Given the description of an element on the screen output the (x, y) to click on. 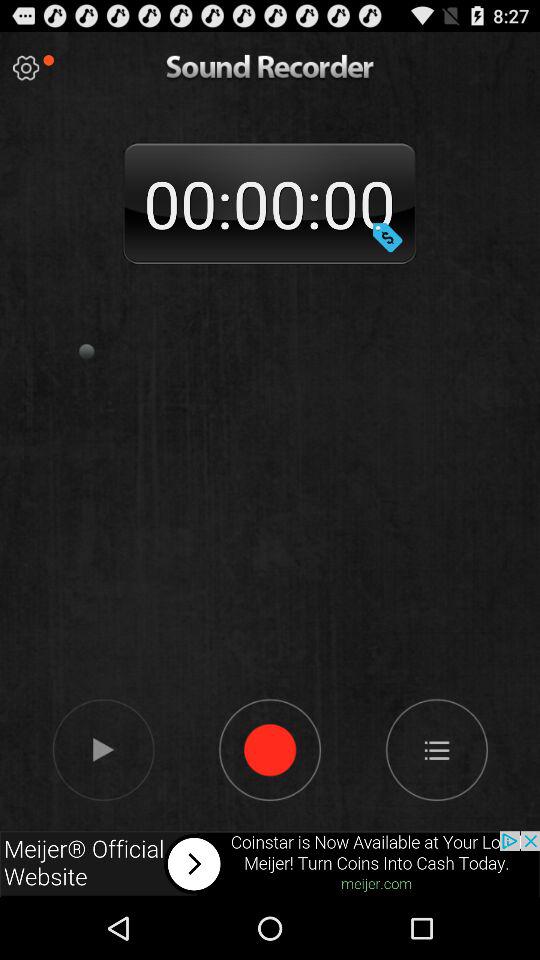
go to settings (26, 68)
